Given the description of an element on the screen output the (x, y) to click on. 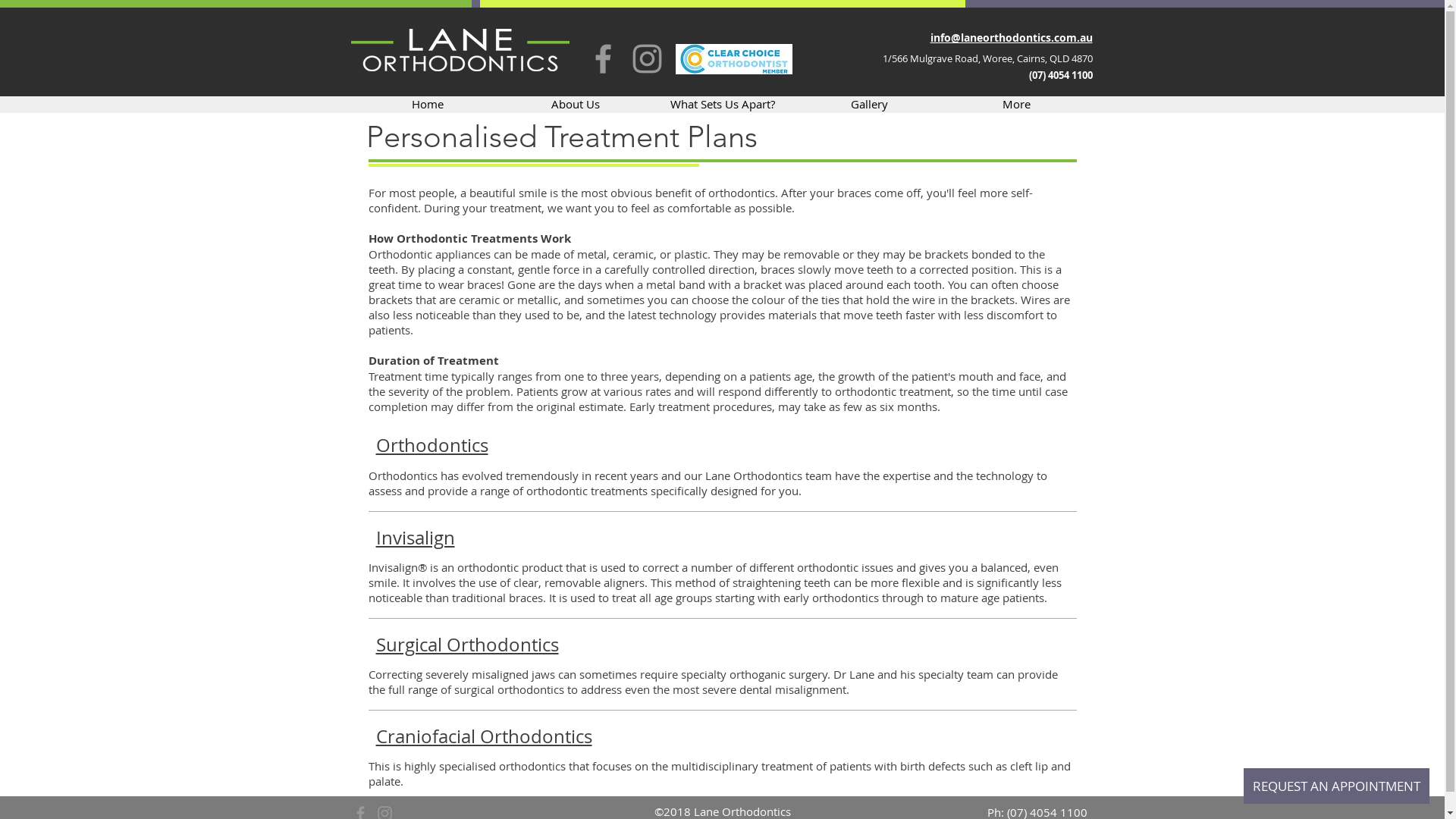
Orthodontics Element type: text (432, 445)
Gallery Element type: text (869, 103)
Craniofacial Orthodontics Element type: text (484, 736)
What Sets Us Apart? Element type: text (722, 103)
Invisalign Element type: text (415, 536)
info@laneorthodontics.com.au Element type: text (1010, 37)
REQUEST AN APPOINTMENT Element type: text (1336, 785)
Home Element type: text (427, 103)
About Us Element type: text (575, 103)
Surgical Orthodontics Element type: text (467, 644)
